Given the description of an element on the screen output the (x, y) to click on. 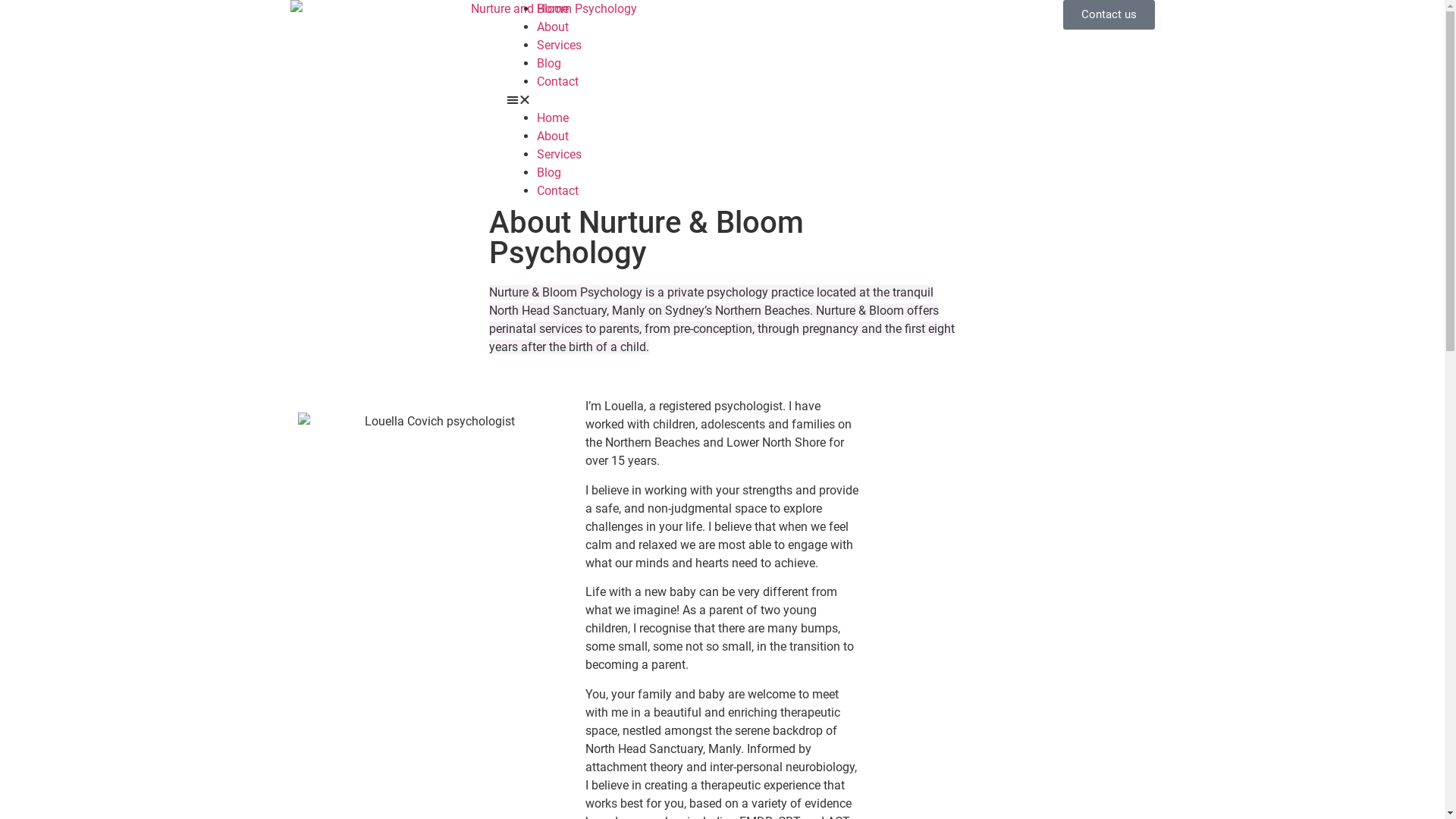
Blog Element type: text (548, 63)
Services Element type: text (558, 44)
Contact Element type: text (557, 81)
Contact us Element type: text (1108, 14)
Services Element type: text (558, 154)
Home Element type: text (552, 8)
Blog Element type: text (548, 172)
About Element type: text (552, 135)
About Element type: text (552, 26)
Contact Element type: text (557, 190)
Home Element type: text (552, 117)
